Given the description of an element on the screen output the (x, y) to click on. 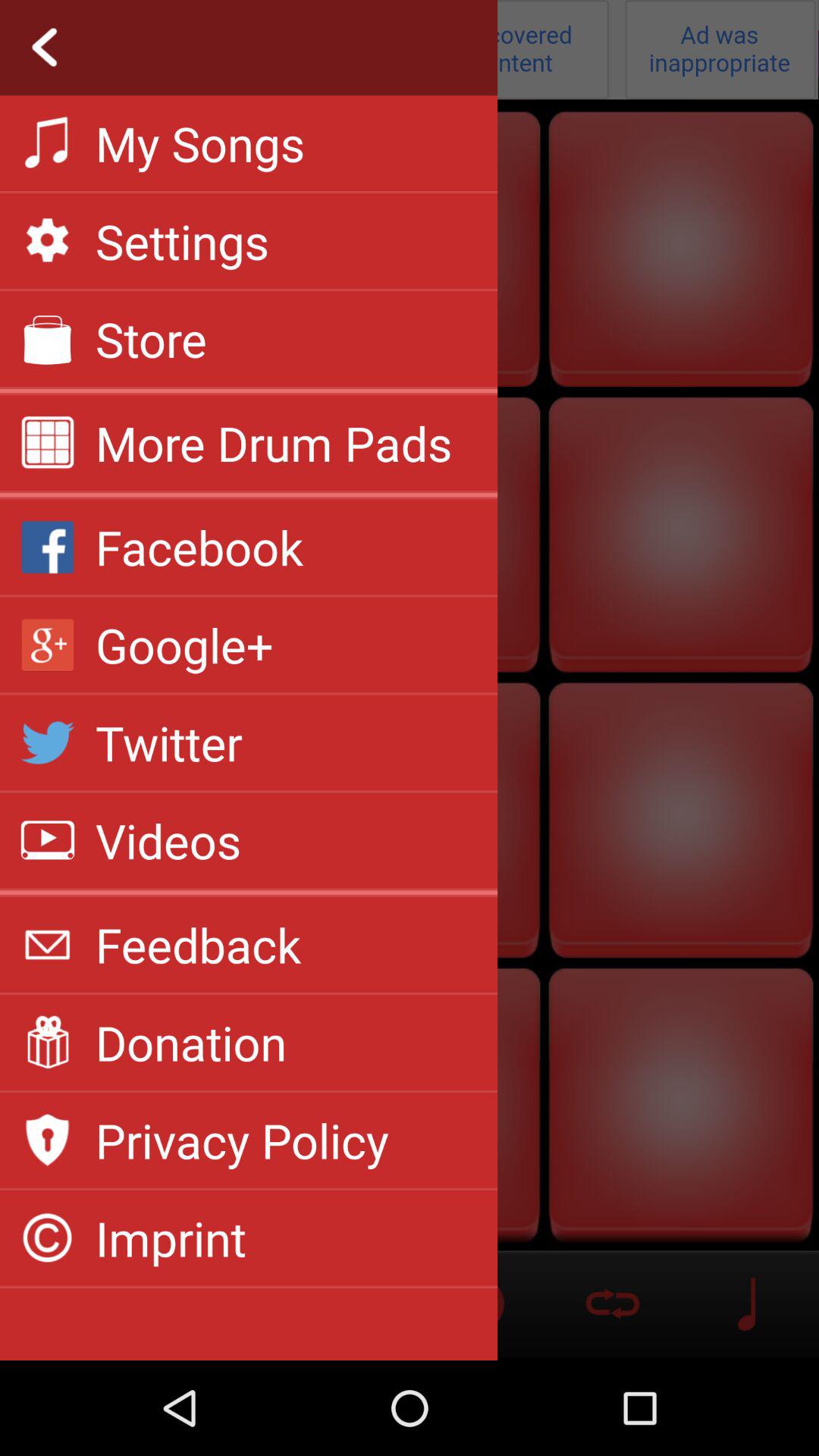
click app below the my songs icon (182, 241)
